Given the description of an element on the screen output the (x, y) to click on. 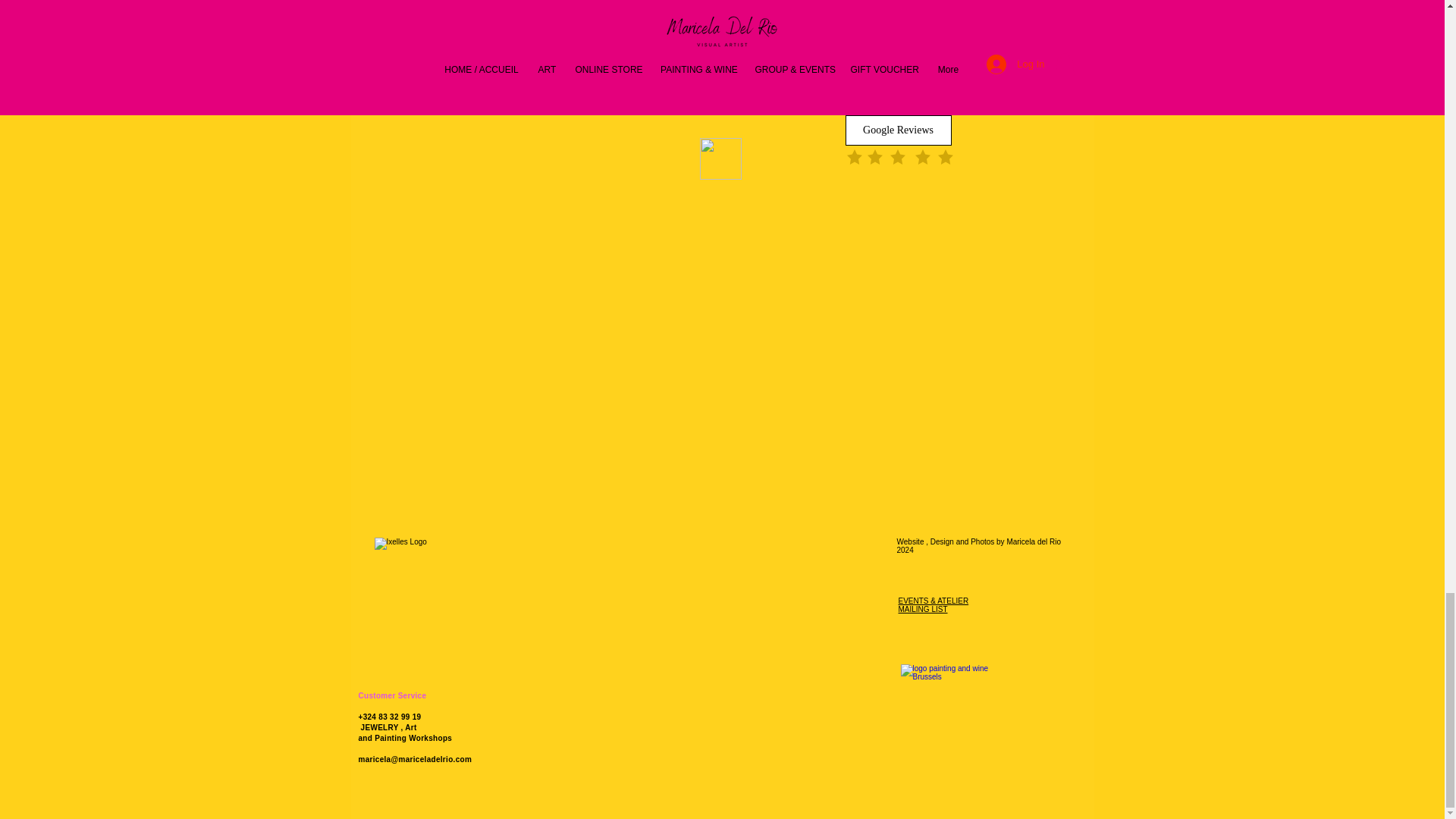
Painting and Wine LOGO (946, 709)
Send  (719, 158)
